Given the description of an element on the screen output the (x, y) to click on. 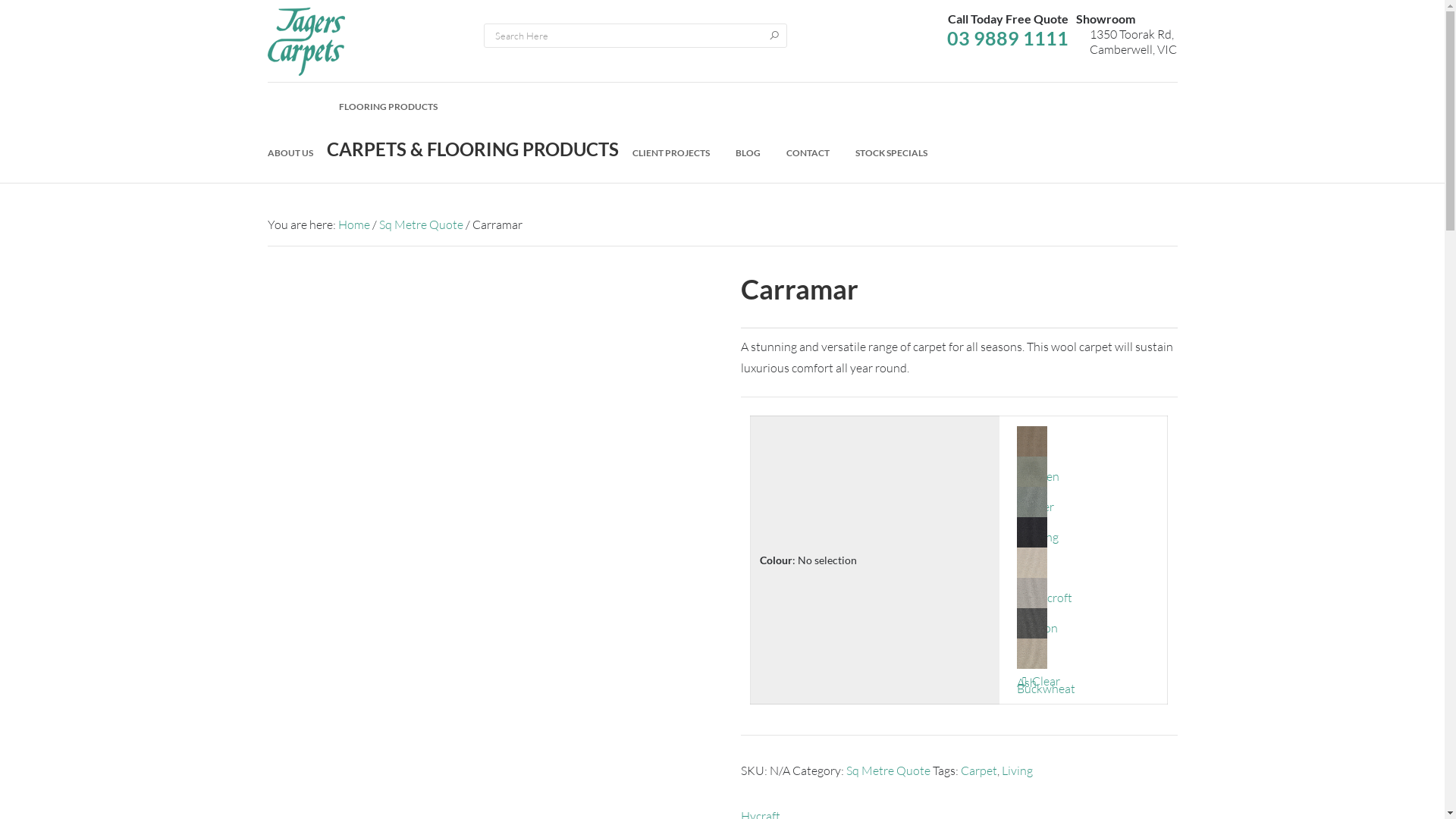
Coal Ash Element type: text (1083, 623)
Carpet Element type: text (978, 770)
Peat Element type: text (1083, 532)
FLOORING PRODUCTS Element type: text (472, 106)
BLOG Element type: text (747, 152)
Sq Metre Quote Element type: text (888, 770)
ABOUT US Element type: text (289, 152)
Buckwheat Element type: text (1083, 653)
CONTACT Element type: text (806, 152)
Clear Element type: text (1083, 680)
Sq Metre Quote Element type: text (421, 224)
Home Element type: text (354, 224)
Bracken Element type: text (1083, 441)
CLIENT PROJECTS Element type: text (670, 152)
Stonecroft Element type: text (1083, 562)
03 9889 1111 Element type: text (1007, 37)
Living Element type: text (1016, 770)
Winter Mist Element type: text (1083, 471)
STOCK SPECIALS Element type: text (891, 152)
Canyon Mist Element type: text (1083, 592)
RSS Element type: hover (1168, 96)
Evening Grey Element type: text (1083, 501)
